Given the description of an element on the screen output the (x, y) to click on. 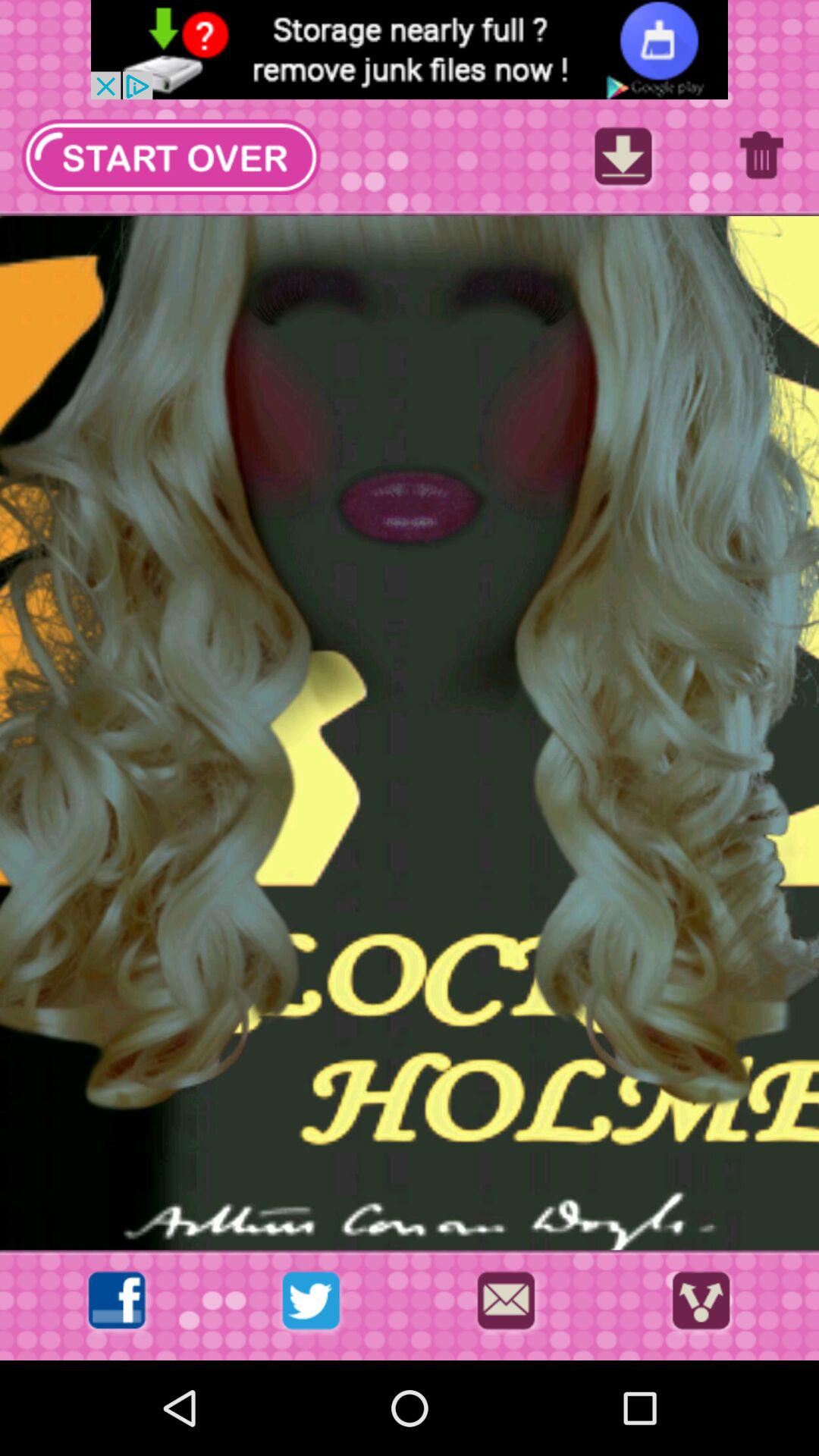
e-mail (505, 1305)
